Given the description of an element on the screen output the (x, y) to click on. 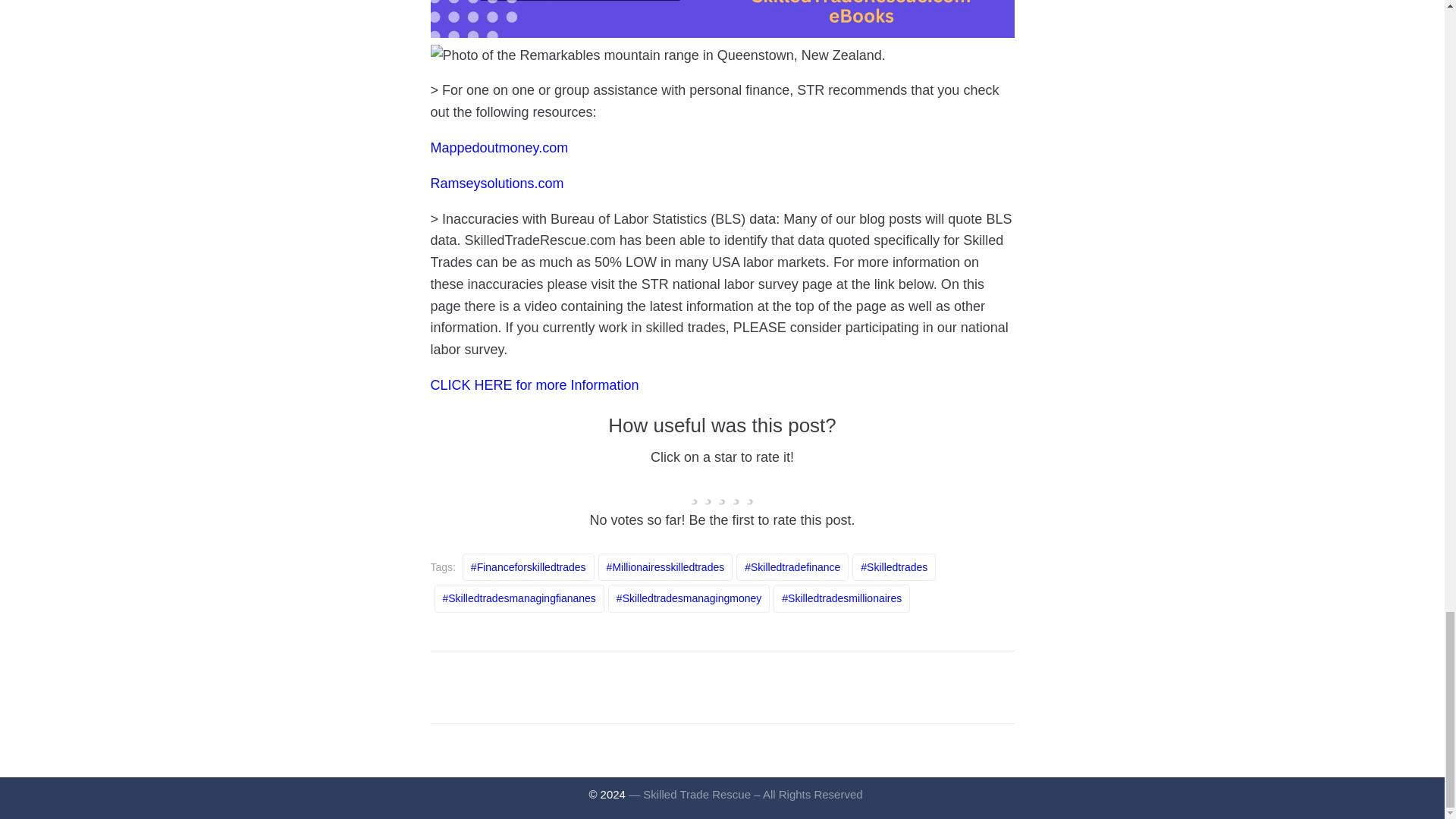
Mappedoutmoney.com (499, 147)
CLICK HERE for more Information (534, 385)
Ramseysolutions.com (497, 183)
